Given the description of an element on the screen output the (x, y) to click on. 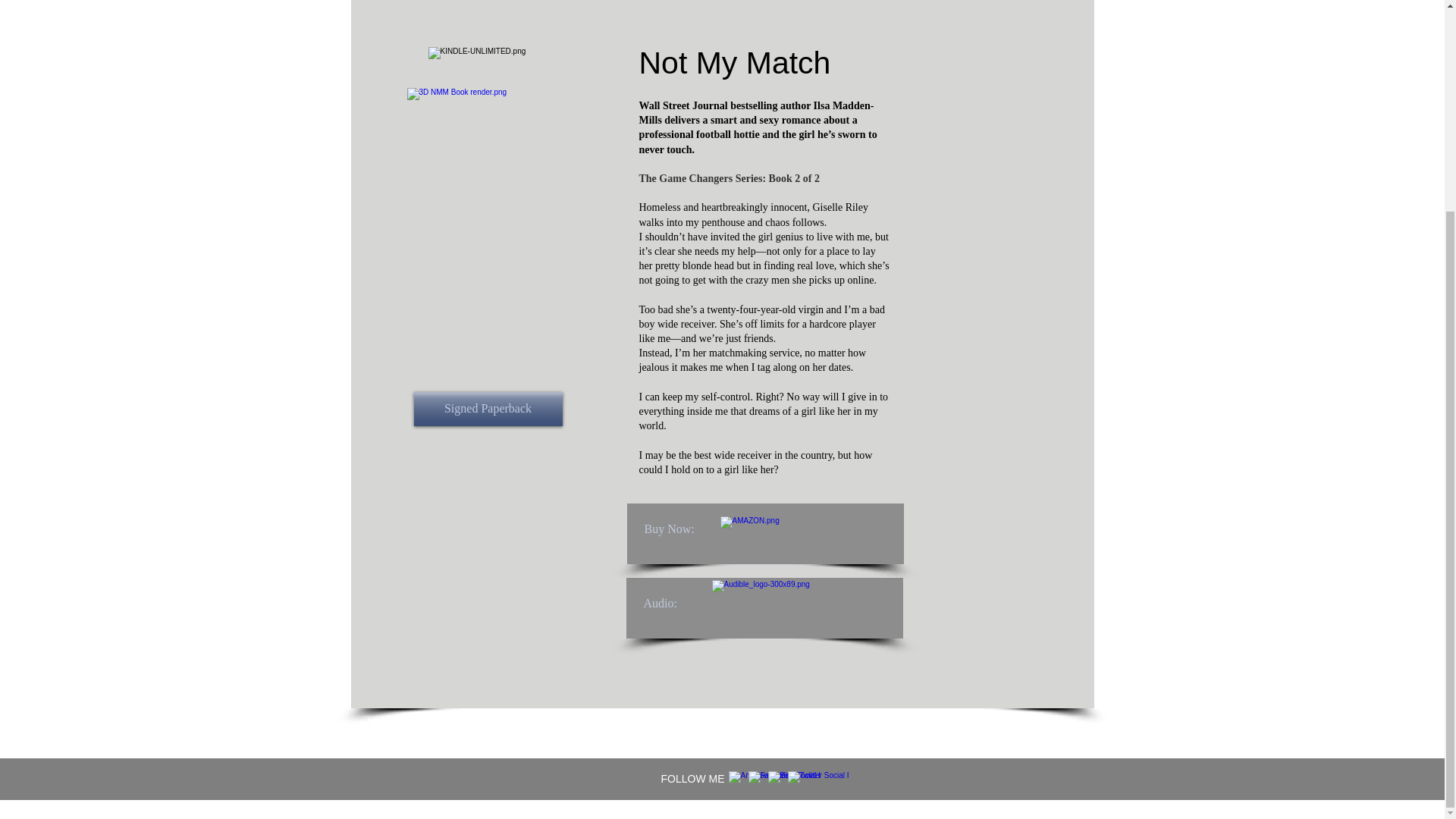
Audio: (660, 603)
Buy Now: (670, 529)
Signed Paperback (487, 408)
